Given the description of an element on the screen output the (x, y) to click on. 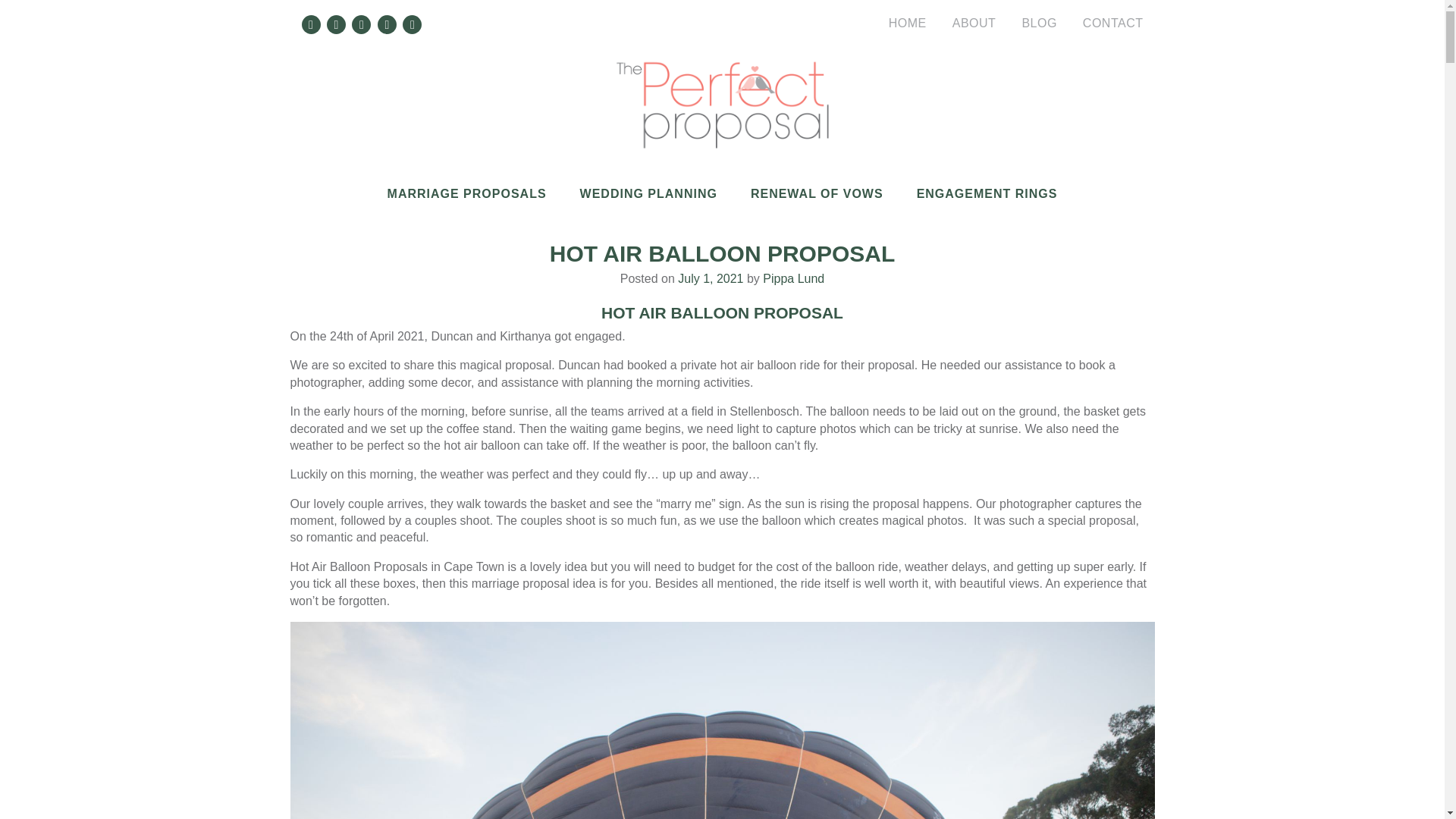
ABOUT (973, 22)
CONTACT (1112, 22)
ENGAGEMENT RINGS (987, 193)
BLOG (1039, 22)
RENEWAL OF VOWS (817, 193)
WEDDING PLANNING (648, 193)
MARRIAGE PROPOSALS (467, 193)
HOME (907, 22)
